Given the description of an element on the screen output the (x, y) to click on. 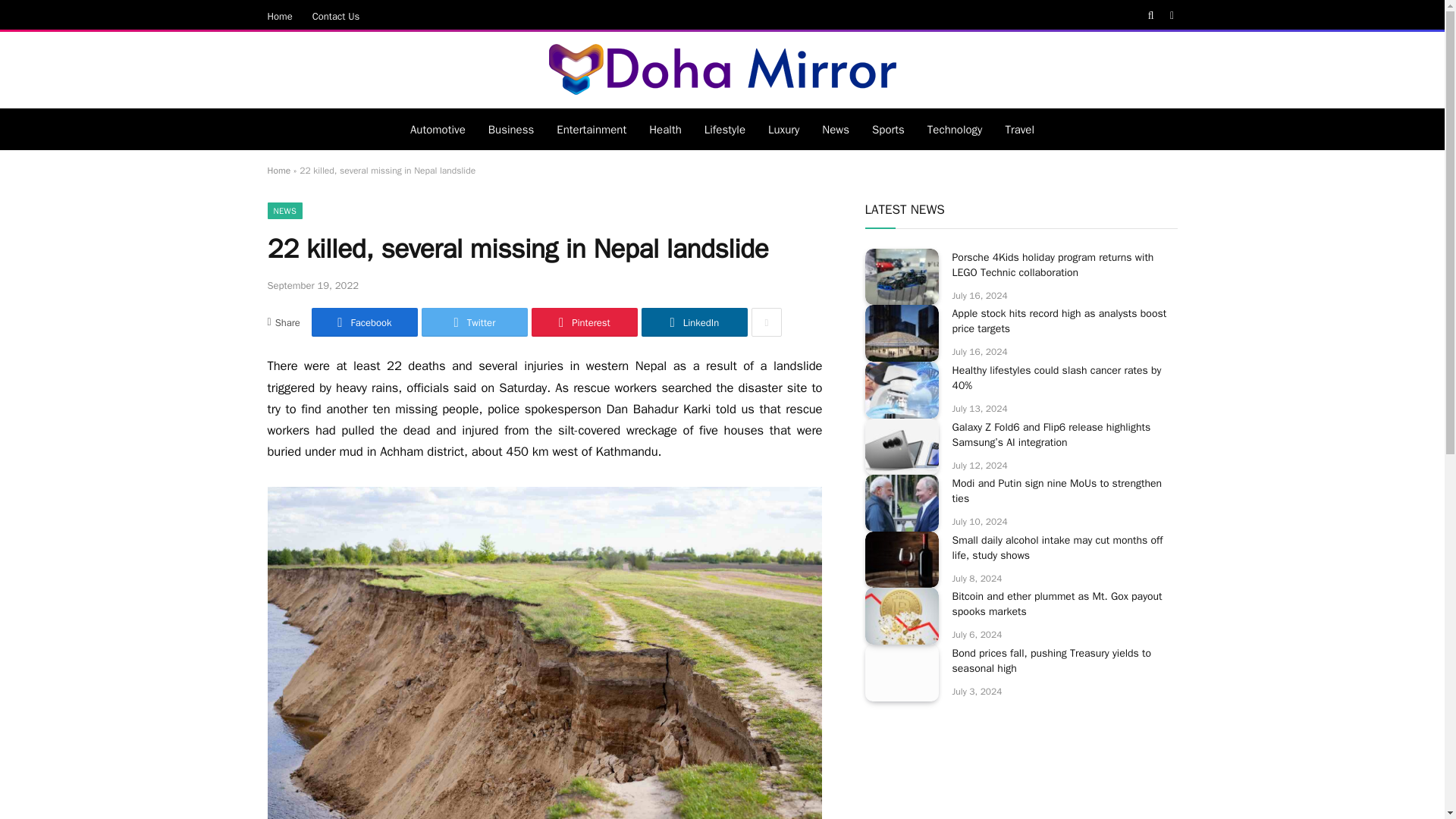
News (835, 128)
Home (279, 15)
LinkedIn (695, 321)
Automotive (437, 128)
Switch to Dark Design - easier on eyes. (1170, 15)
Share on LinkedIn (695, 321)
Sports (887, 128)
Share on Pinterest (584, 321)
Business (511, 128)
Share on Facebook (364, 321)
Entertainment (590, 128)
Doha Mirror (722, 69)
Pinterest (584, 321)
Travel (1018, 128)
NEWS (284, 210)
